Given the description of an element on the screen output the (x, y) to click on. 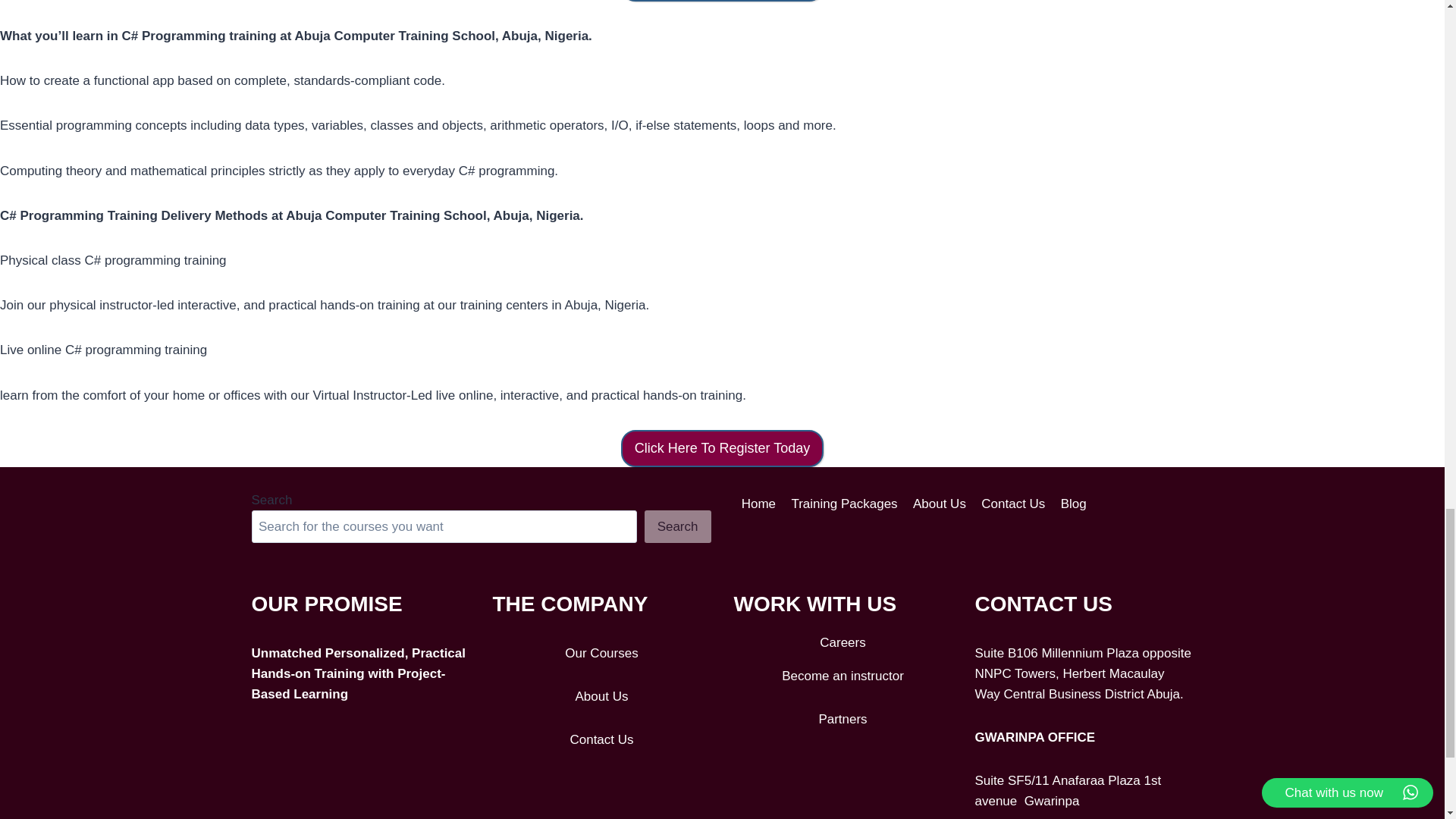
Click Here To Register Today (722, 447)
Blog (1073, 503)
Search (678, 526)
Training Packages (844, 503)
Home (758, 503)
Contact Us (1013, 503)
About Us (939, 503)
